Given the description of an element on the screen output the (x, y) to click on. 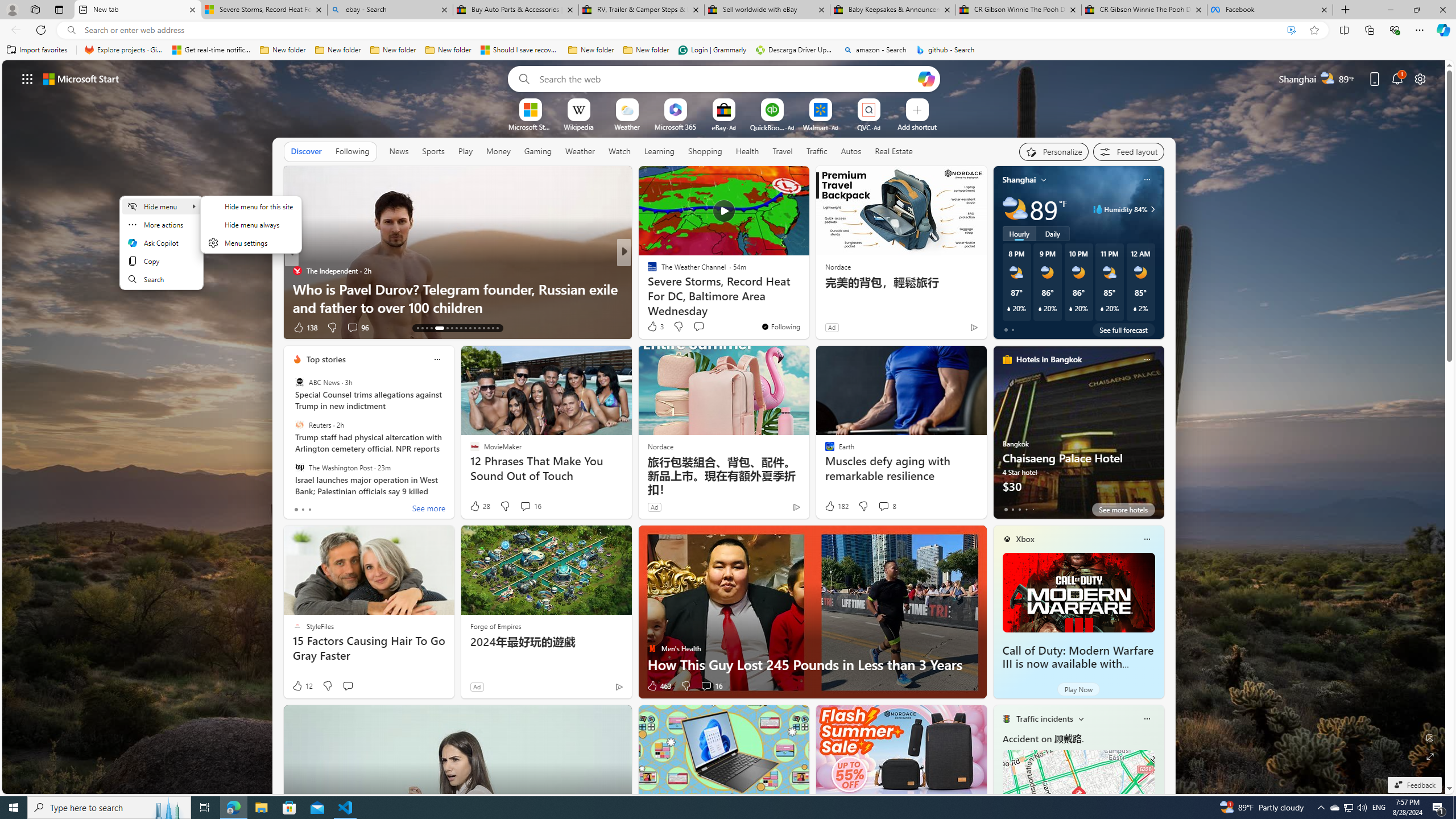
Special Personal Offer (807, 307)
Hide menu (160, 206)
Weather (579, 151)
Athletes That Died Far Too Young (807, 307)
Las Vegas Strip visitors face outrageous new fee (807, 307)
Play (465, 151)
Shopping (705, 151)
RV, Trailer & Camper Steps & Ladders for sale | eBay (641, 9)
